Given the description of an element on the screen output the (x, y) to click on. 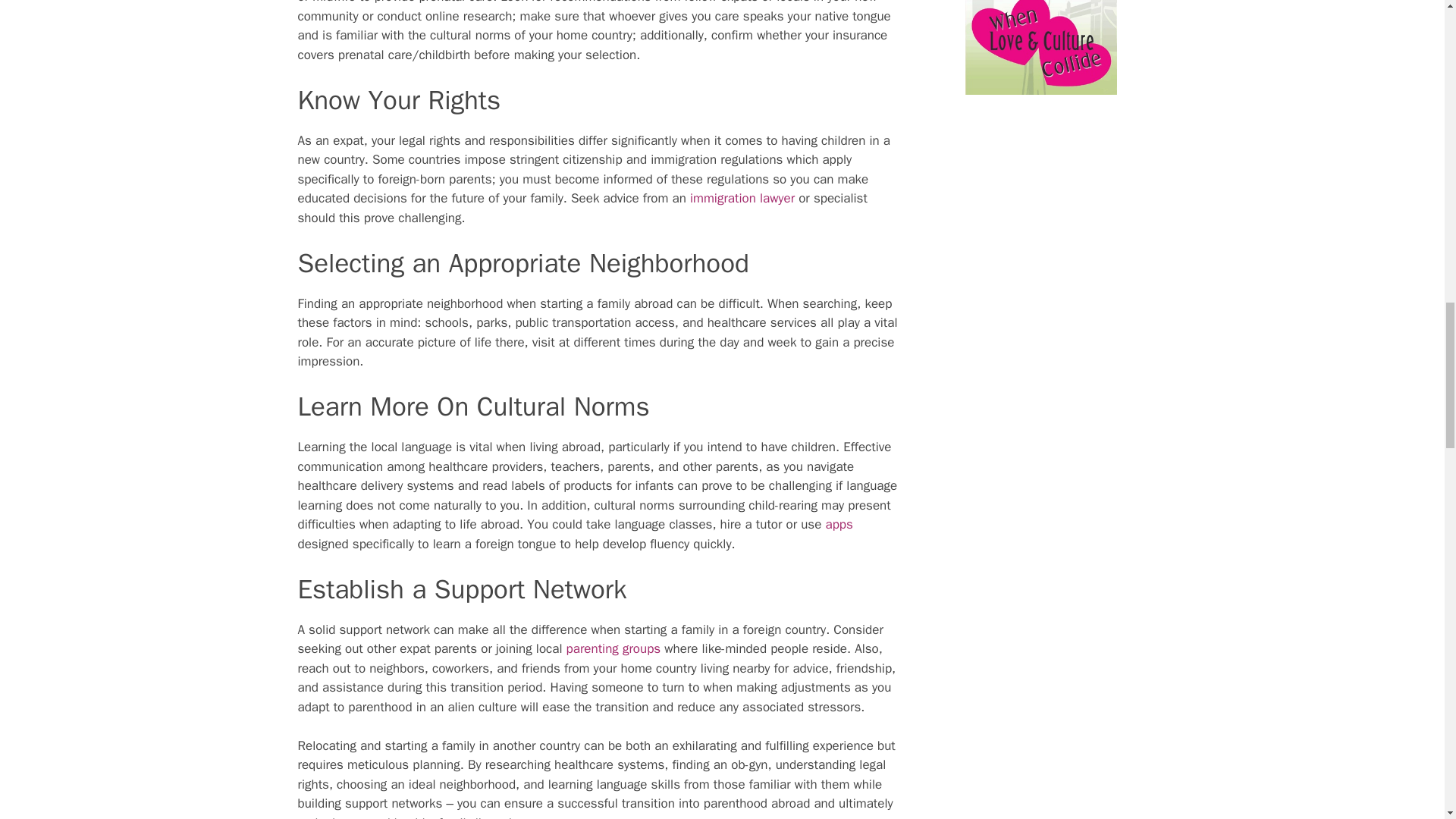
apps (838, 524)
parenting groups (613, 648)
immigration lawyer (742, 198)
